Given the description of an element on the screen output the (x, y) to click on. 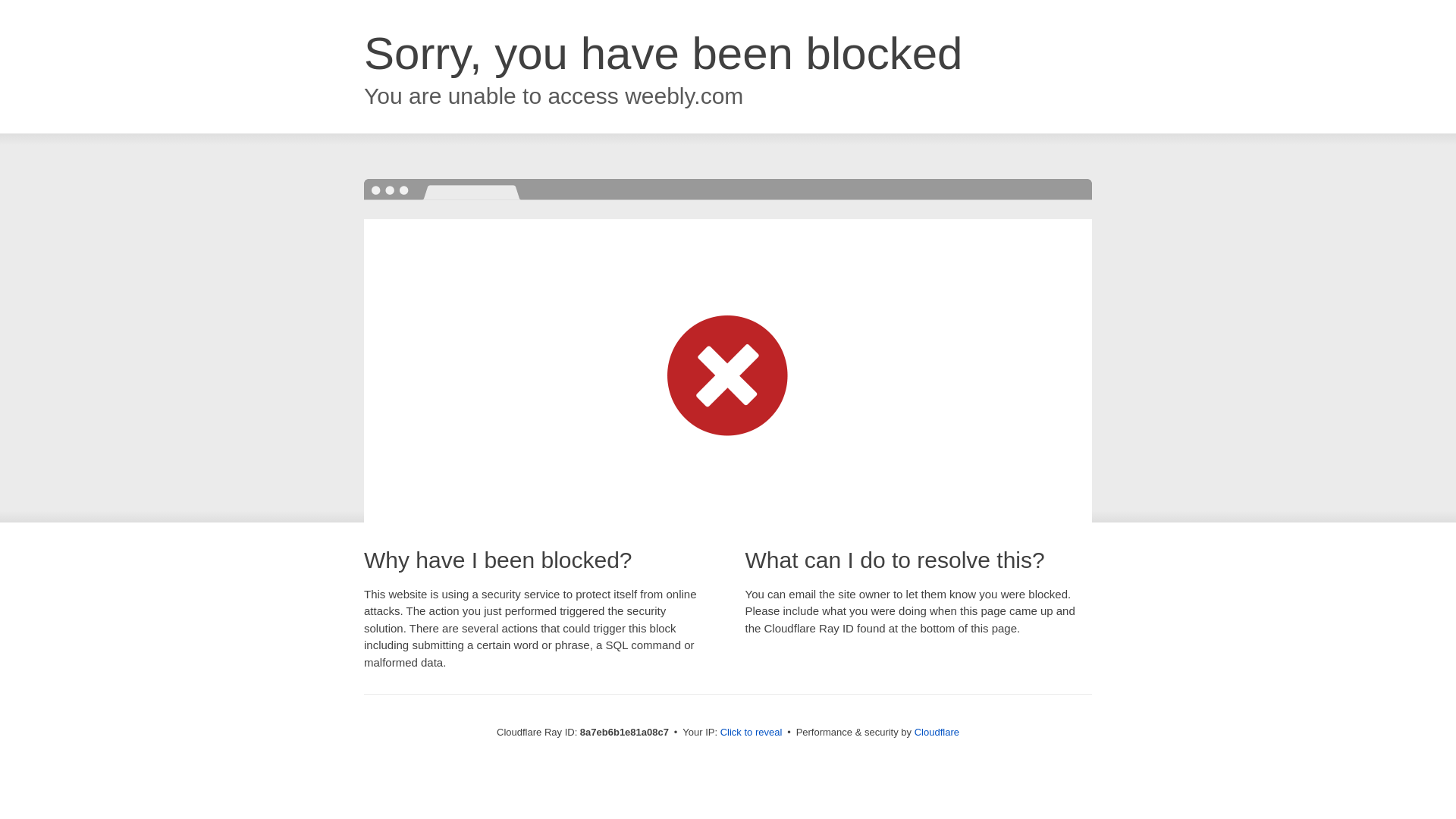
Click to reveal (751, 732)
Cloudflare (936, 731)
